Given the description of an element on the screen output the (x, y) to click on. 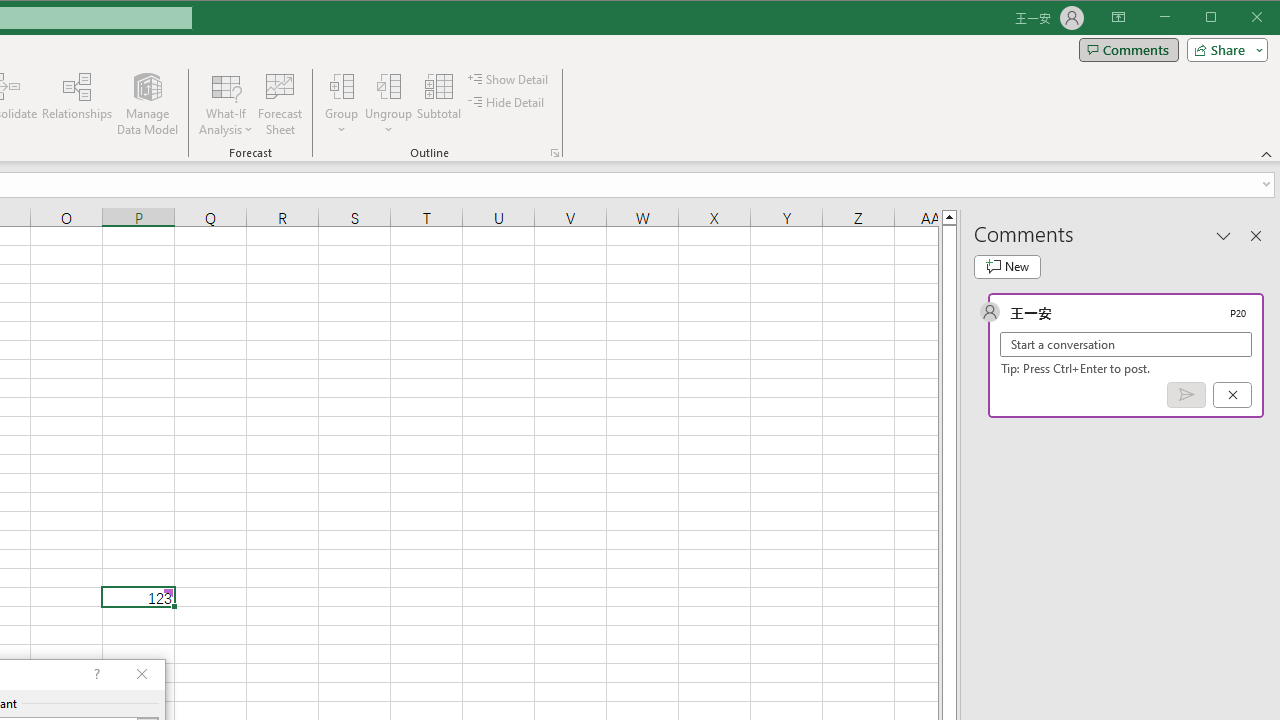
Group and Outline Settings (554, 152)
Forecast Sheet (280, 104)
Relationships (77, 104)
Cancel (1232, 395)
Post comment (Ctrl + Enter) (1186, 395)
Maximize (1239, 18)
Subtotal (438, 104)
Ungroup... (388, 104)
Hide Detail (506, 101)
Ungroup... (388, 86)
Group... (342, 86)
Manage Data Model (147, 104)
